Given the description of an element on the screen output the (x, y) to click on. 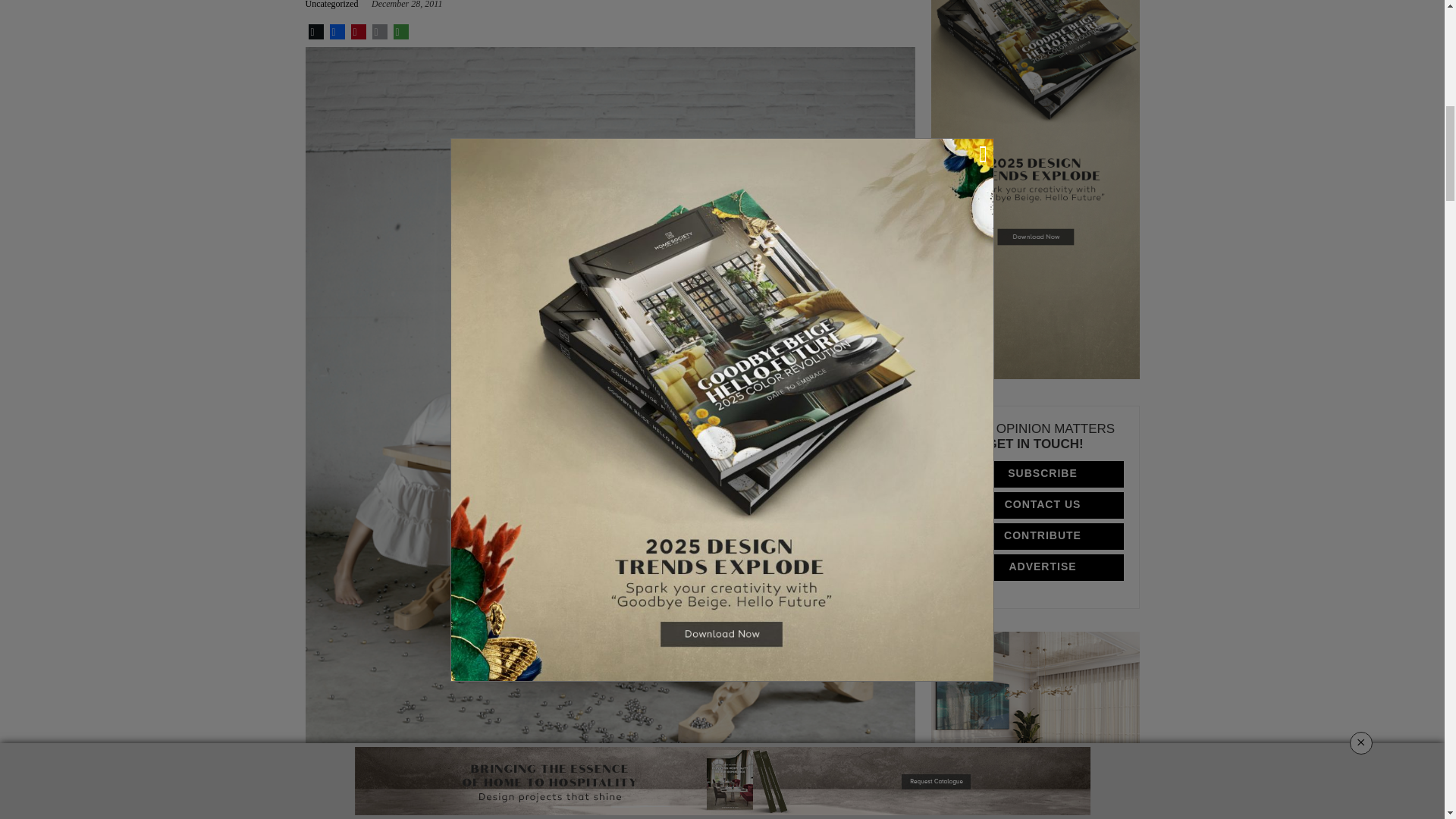
Email This (379, 31)
Pinterest (357, 31)
Uncategorized (334, 5)
December 28, 2011 (406, 5)
Facebook (336, 31)
11:44 am (406, 5)
More Options (400, 31)
